Given the description of an element on the screen output the (x, y) to click on. 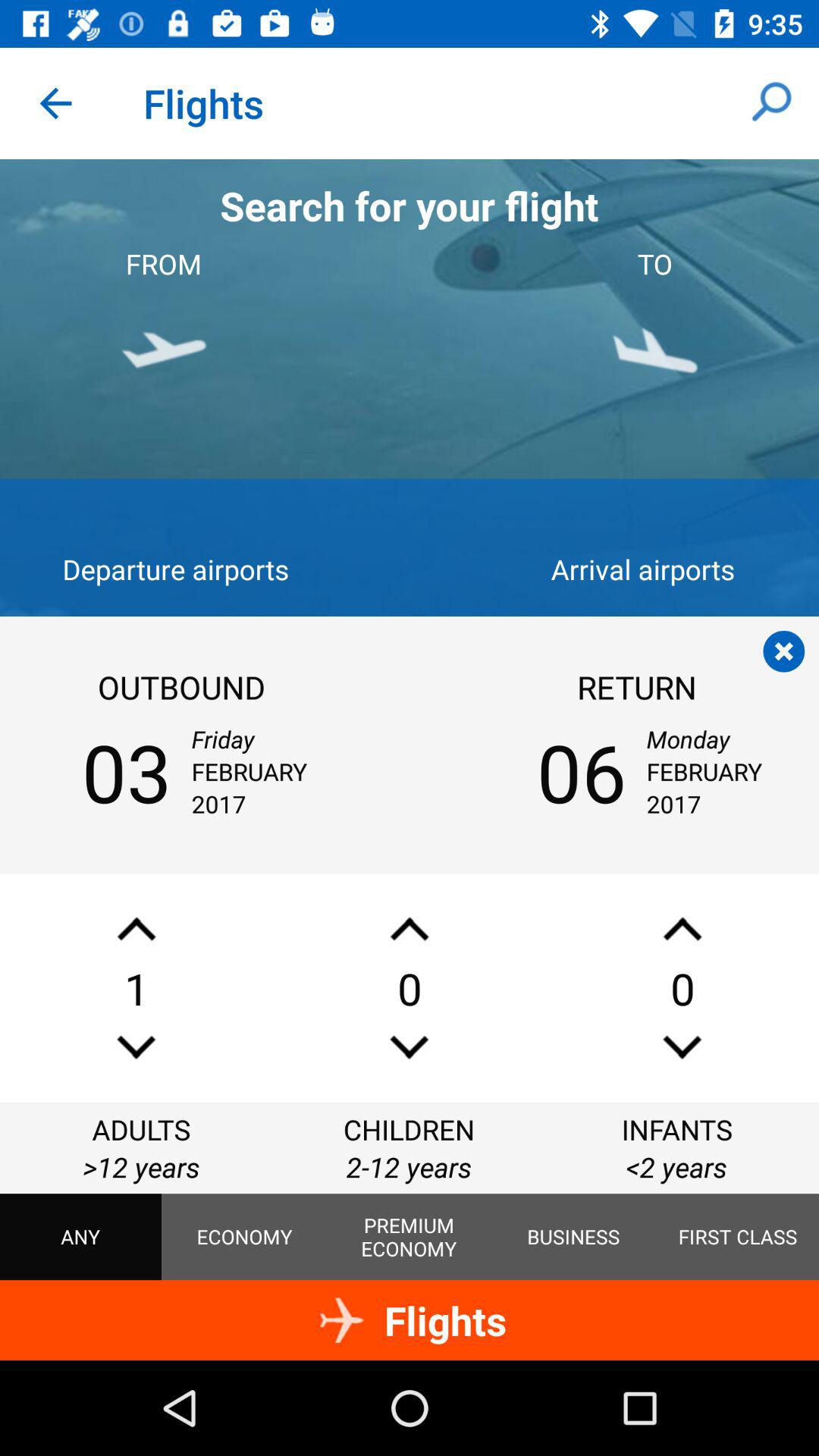
lower number of infants (682, 1047)
